Given the description of an element on the screen output the (x, y) to click on. 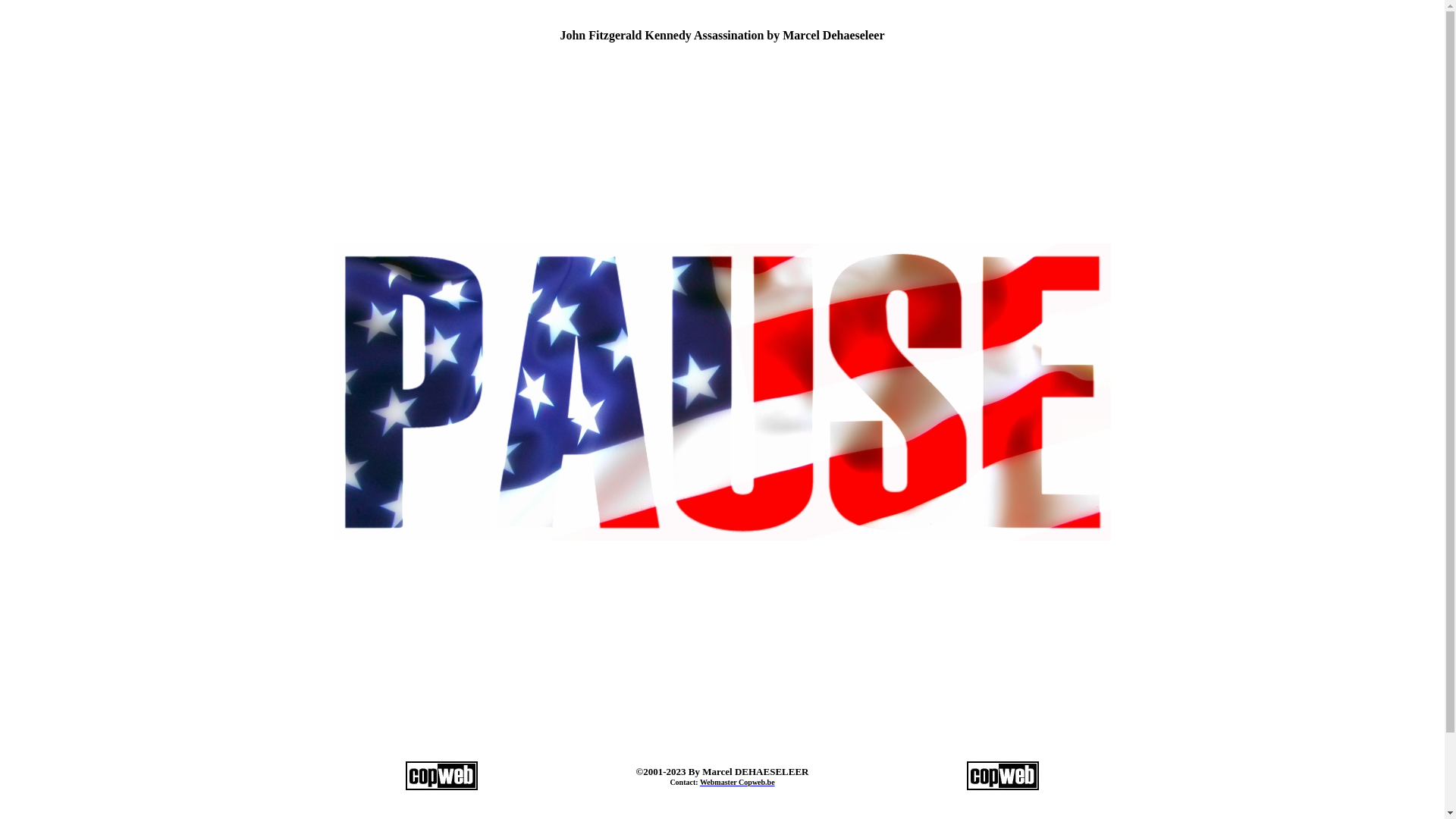
Webmaster Copweb.be Element type: text (737, 782)
